Given the description of an element on the screen output the (x, y) to click on. 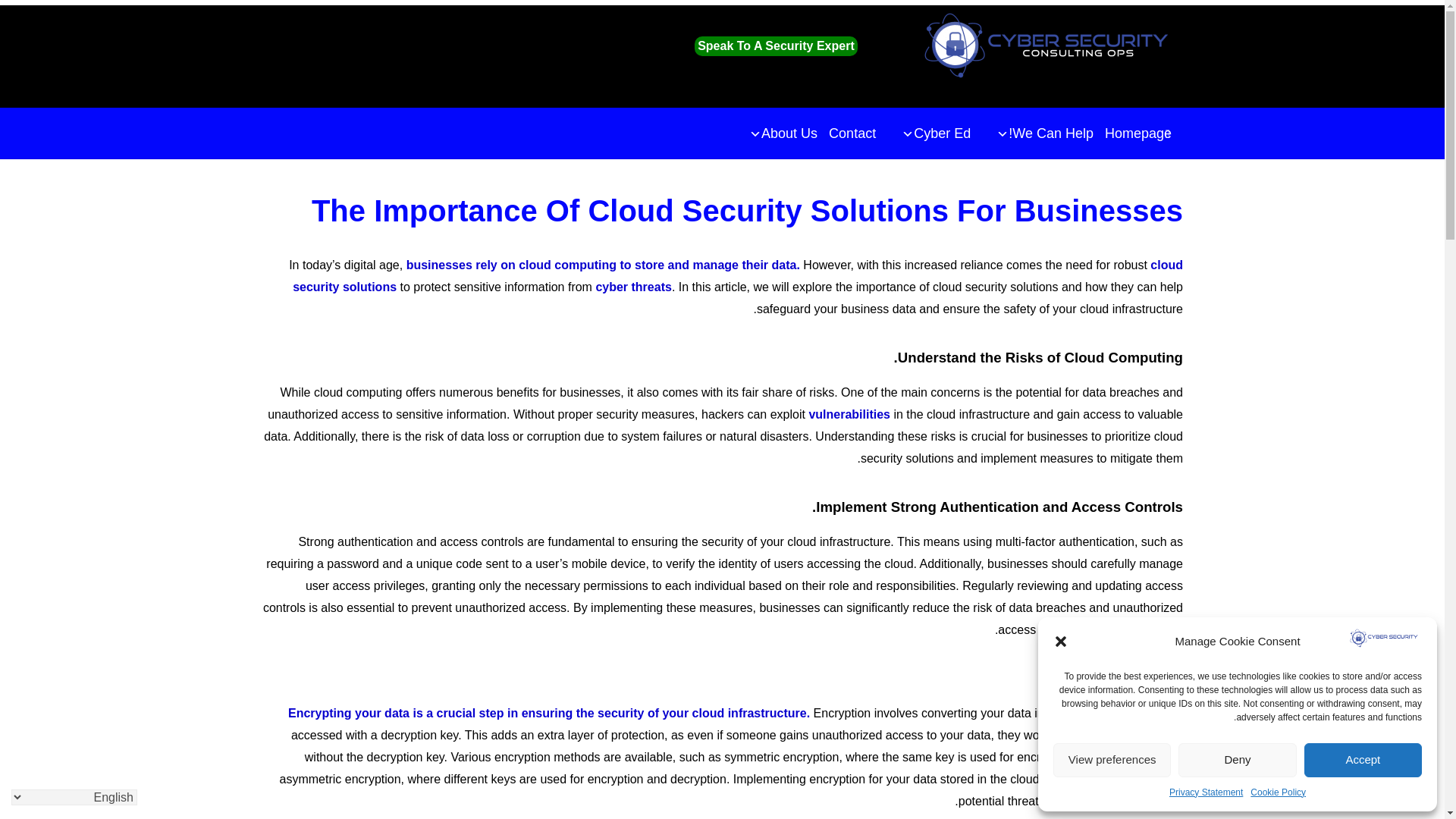
Accept (1363, 759)
View preferences (1111, 759)
Privacy Statement (1206, 792)
Speak To A Security Expert (775, 46)
Search (1167, 132)
Deny (1236, 759)
Cookie Policy (1278, 792)
